Given the description of an element on the screen output the (x, y) to click on. 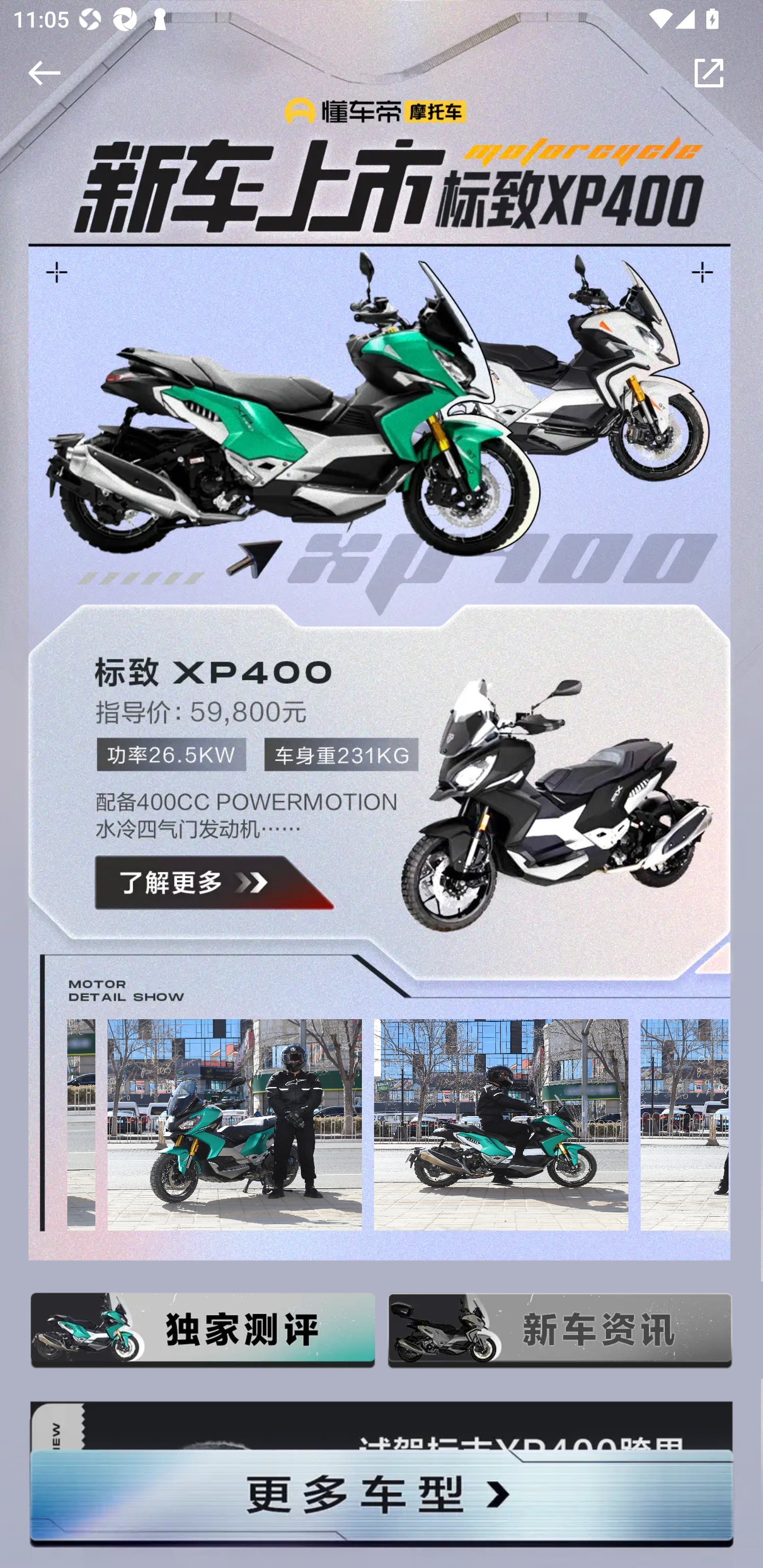
 (41, 72)
